Given the description of an element on the screen output the (x, y) to click on. 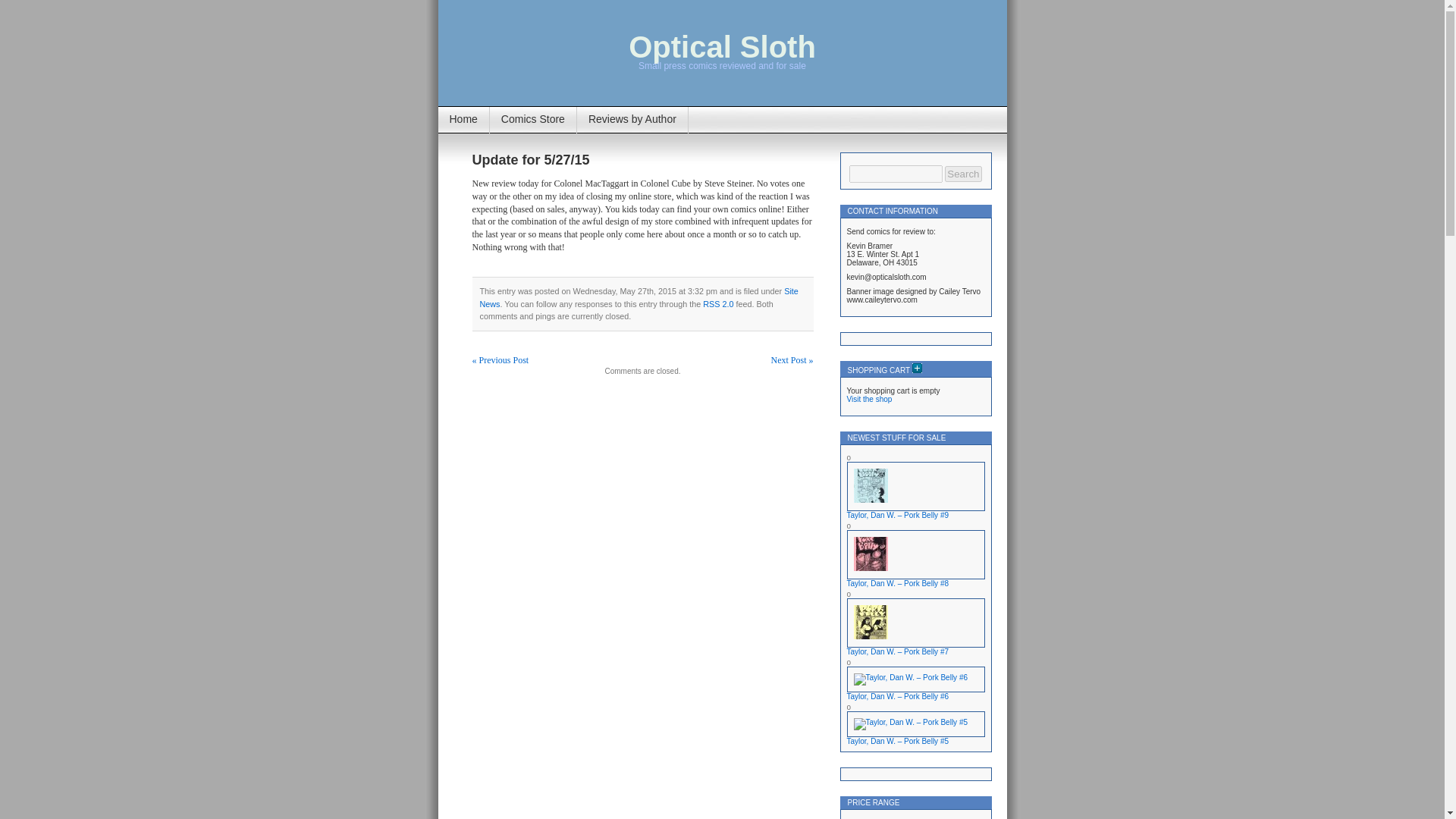
Visit the shop (868, 398)
Home (463, 120)
Comics Store (532, 120)
Optical Sloth (721, 46)
RSS 2.0 (718, 303)
Search (962, 173)
Reviews by Author (632, 120)
Search (962, 173)
Visit Shop (868, 398)
Site News (638, 297)
